Given the description of an element on the screen output the (x, y) to click on. 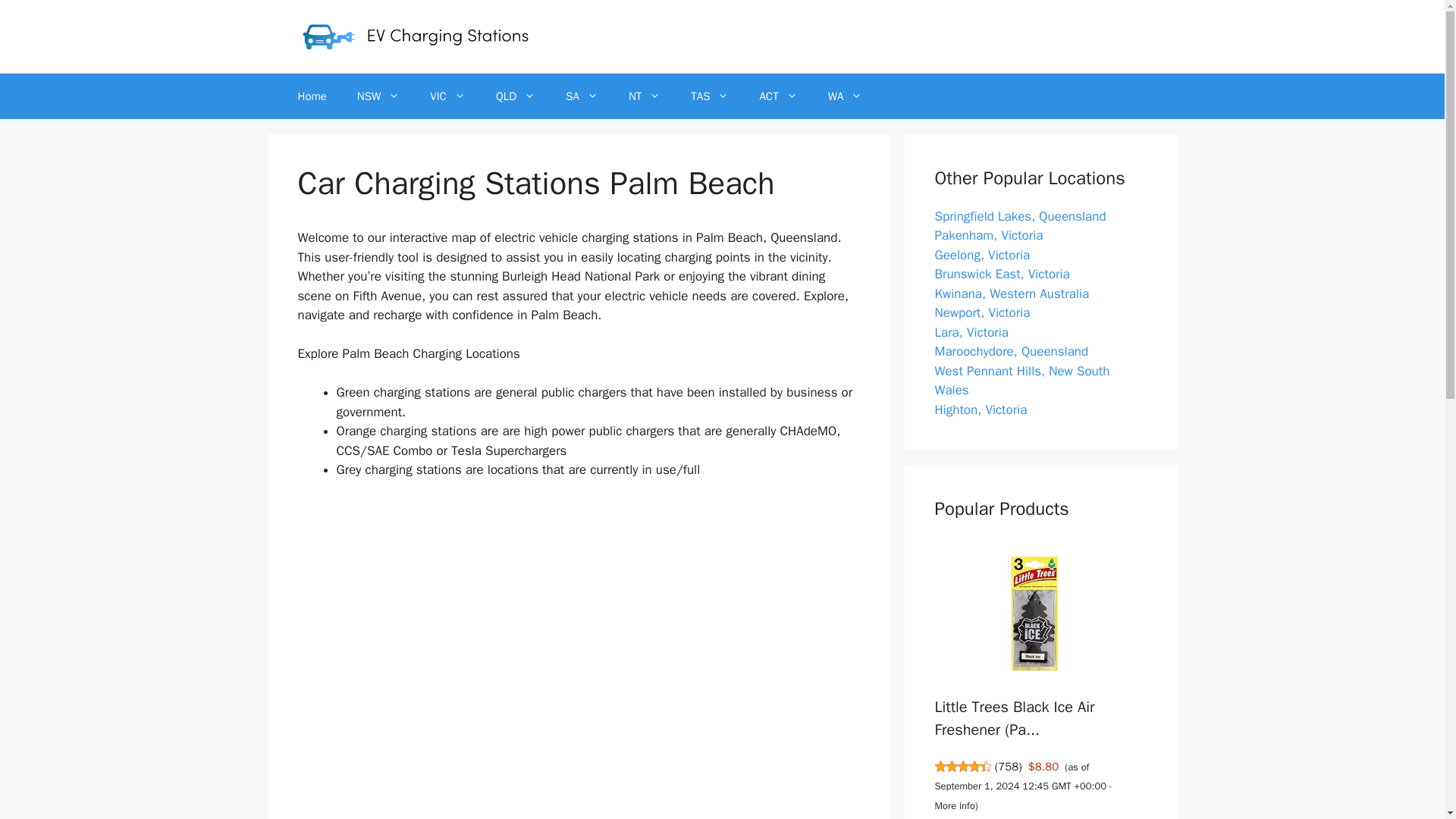
EV Charging Stations (414, 36)
Home (311, 95)
QLD (515, 95)
NSW (378, 95)
EV Charging Stations (414, 35)
VIC (447, 95)
